Given the description of an element on the screen output the (x, y) to click on. 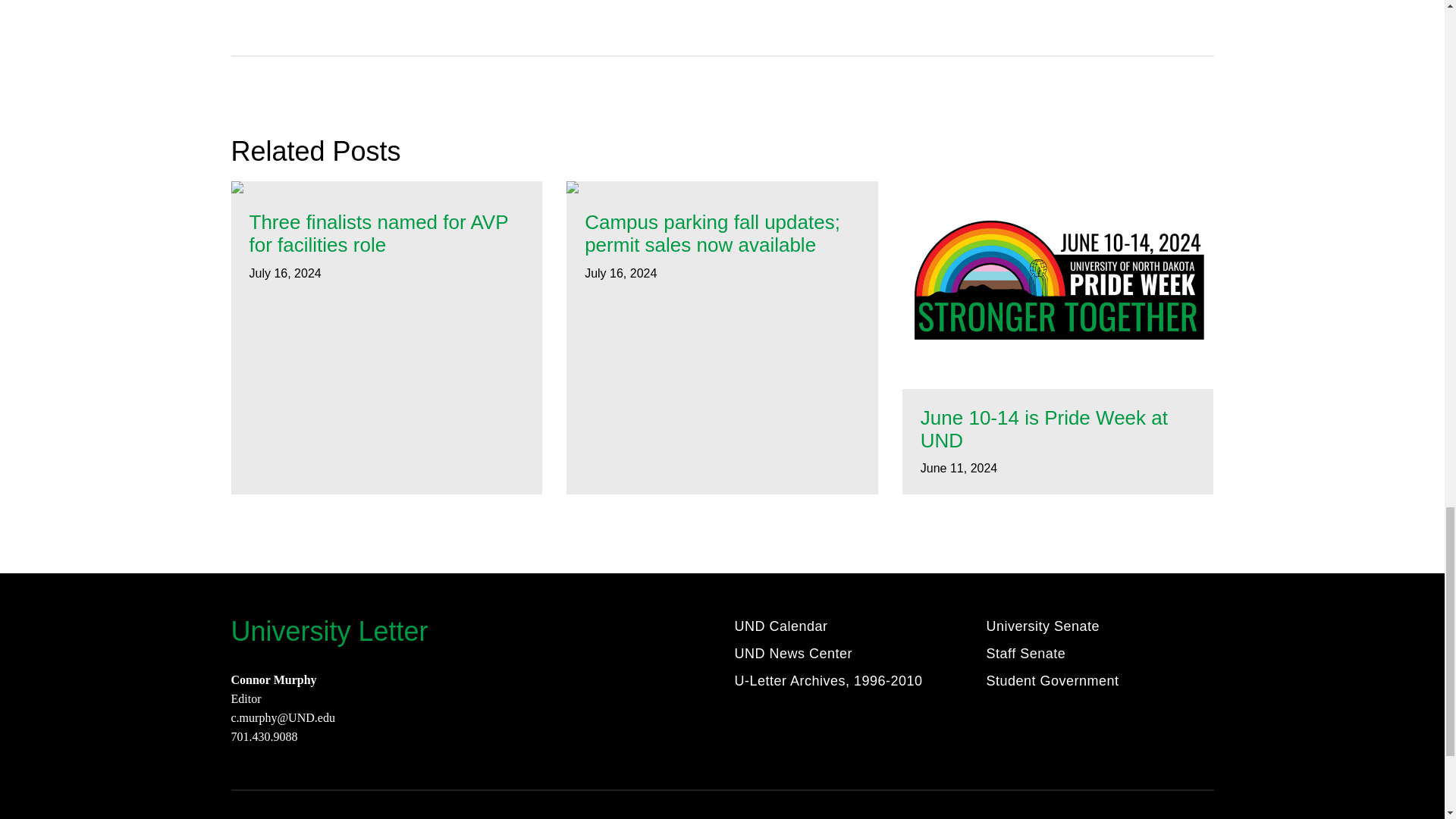
701.430.9088 (263, 736)
Campus parking fall updates; permit sales now available (722, 234)
June 10-14 is Pride Week at UND (1057, 429)
Three finalists named for AVP for facilities role (386, 234)
UND News Center (792, 655)
UND Calendar (780, 628)
